Given the description of an element on the screen output the (x, y) to click on. 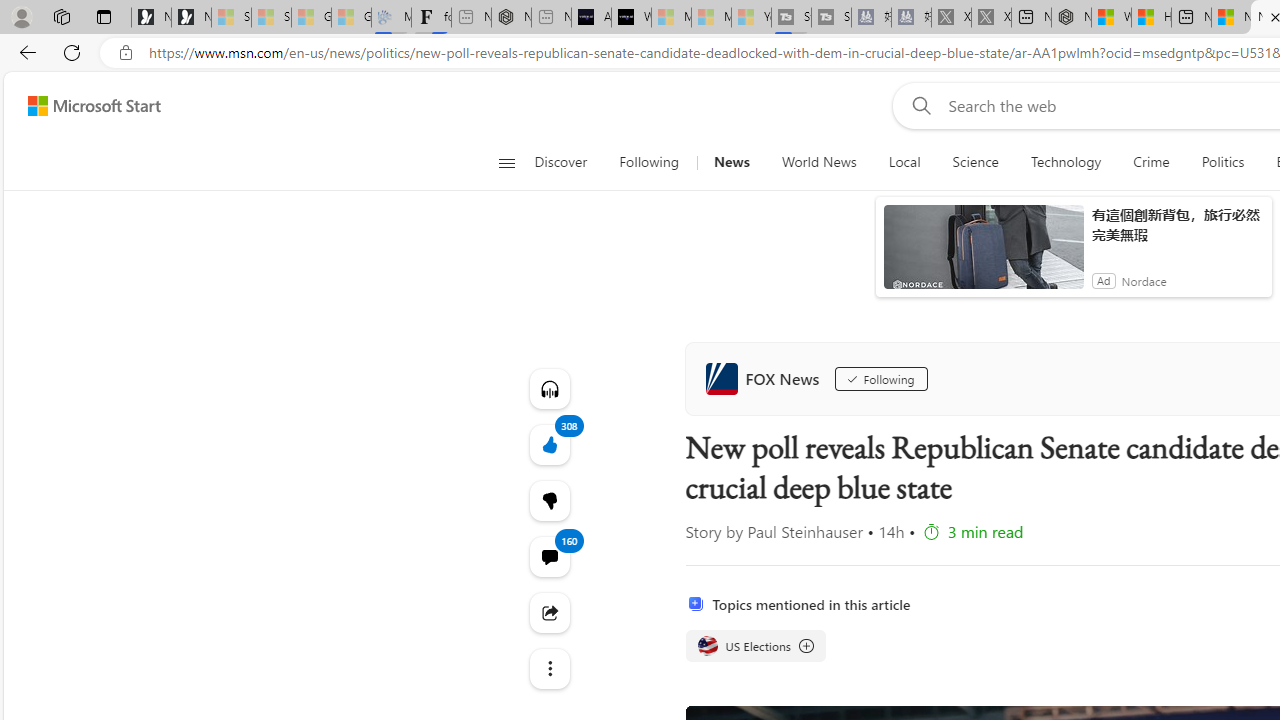
Science (975, 162)
anim-content (983, 255)
See more (548, 668)
What's the best AI voice generator? - voice.ai (631, 17)
Streaming Coverage | T3 - Sleeping (791, 17)
US Elections (754, 645)
Ad (1103, 280)
Wildlife - MSN (1111, 17)
Microsoft Start Sports - Sleeping (671, 17)
Technology (1065, 162)
Skip to content (86, 105)
